Given the description of an element on the screen output the (x, y) to click on. 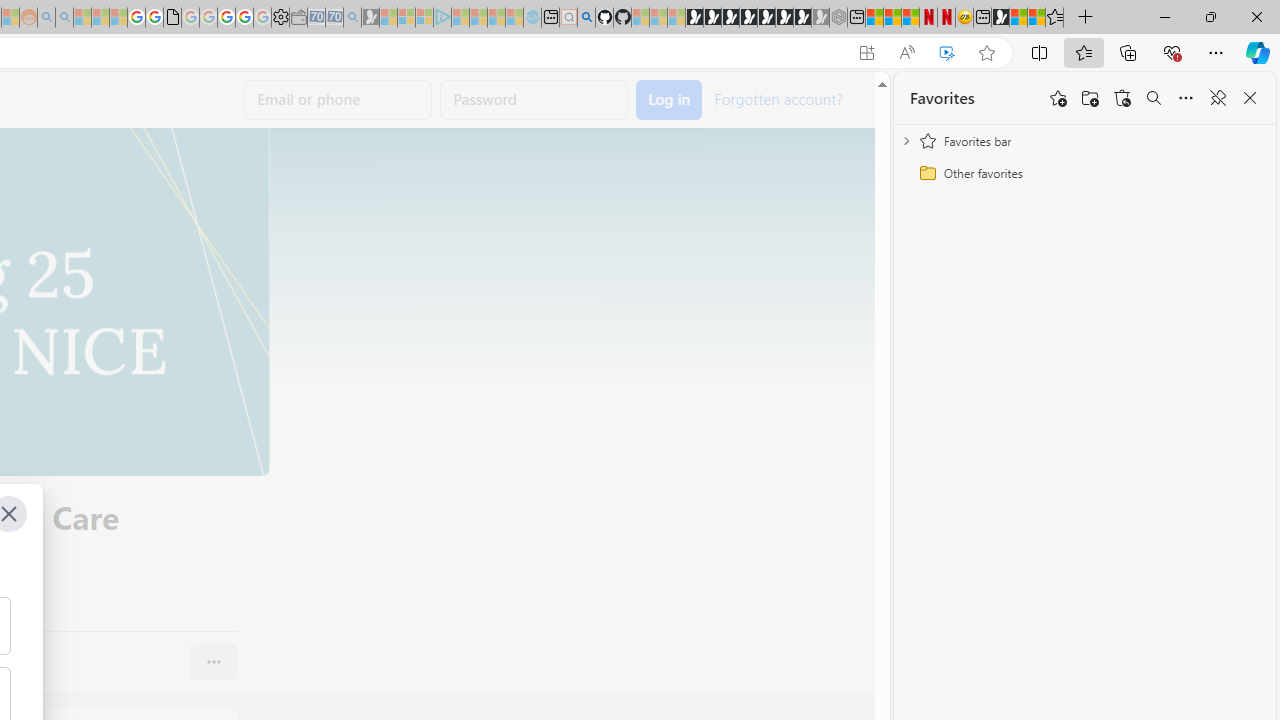
App available. Install Facebook (867, 53)
Forgotten account? (778, 97)
Add folder (1089, 98)
Search favorites (1153, 98)
